Given the description of an element on the screen output the (x, y) to click on. 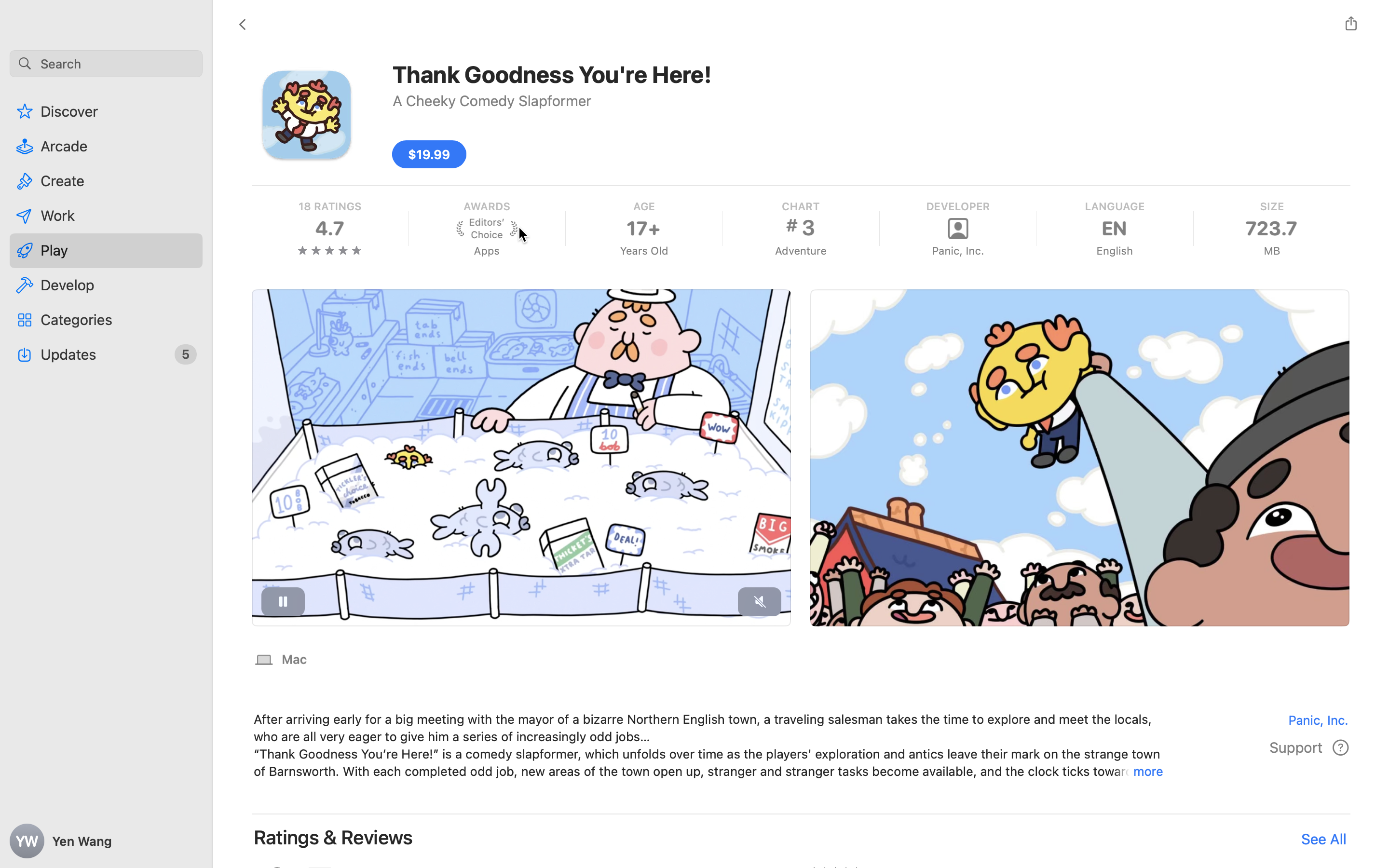
LANGUAGE Element type: AXStaticText (1113, 206)
Panic, Inc, DEVELOPER, selfie Element type: AXStaticText (957, 228)
Editors’
Choice Element type: AXStaticText (486, 228)
Adventure Element type: AXStaticText (800, 250)
18 RATINGS Element type: AXStaticText (329, 206)
